Given the description of an element on the screen output the (x, y) to click on. 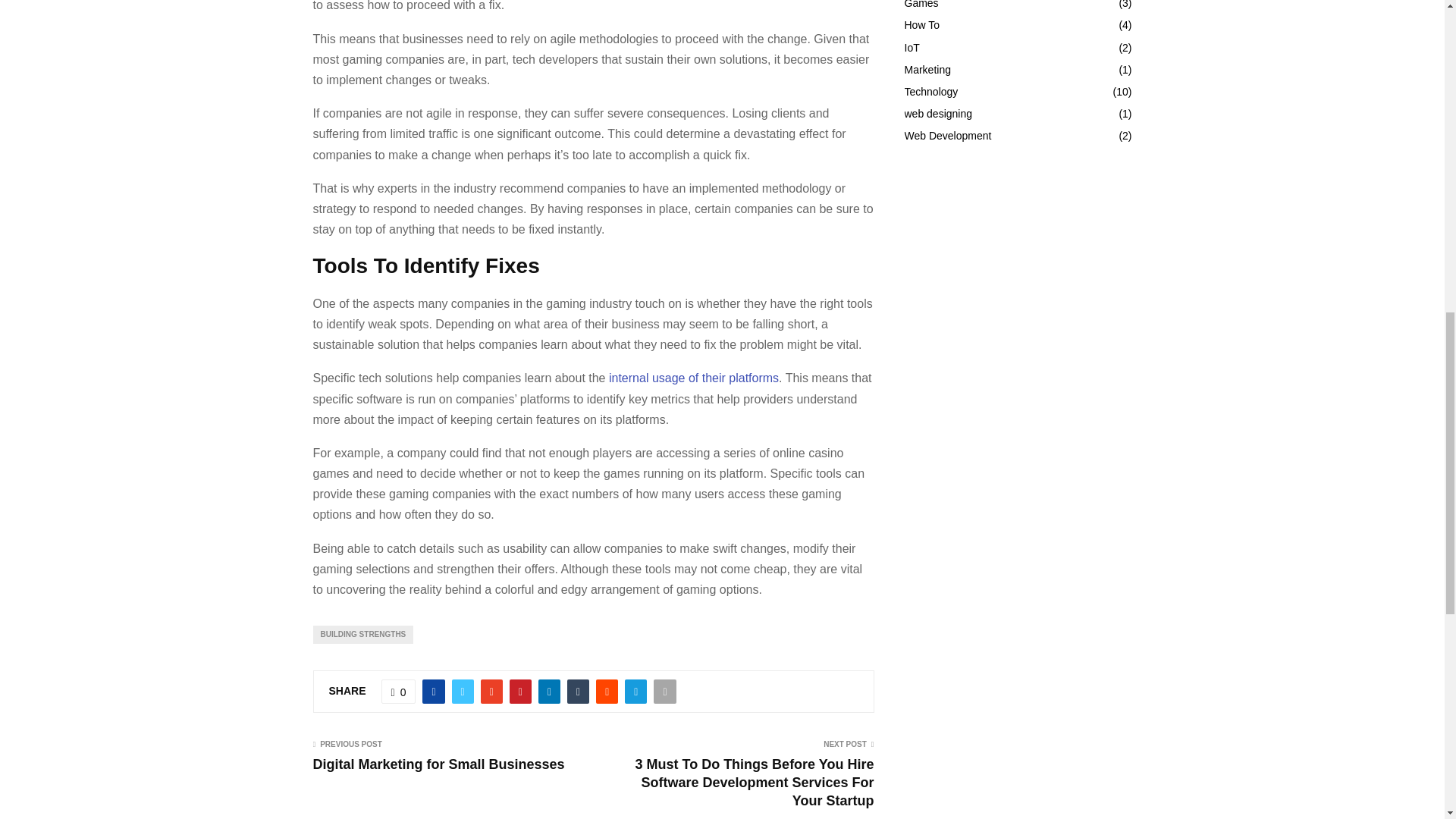
0 (398, 691)
internal usage of their platforms (693, 377)
BUILDING STRENGTHS (363, 634)
Like (398, 691)
Digital Marketing for Small Businesses (438, 764)
